Given the description of an element on the screen output the (x, y) to click on. 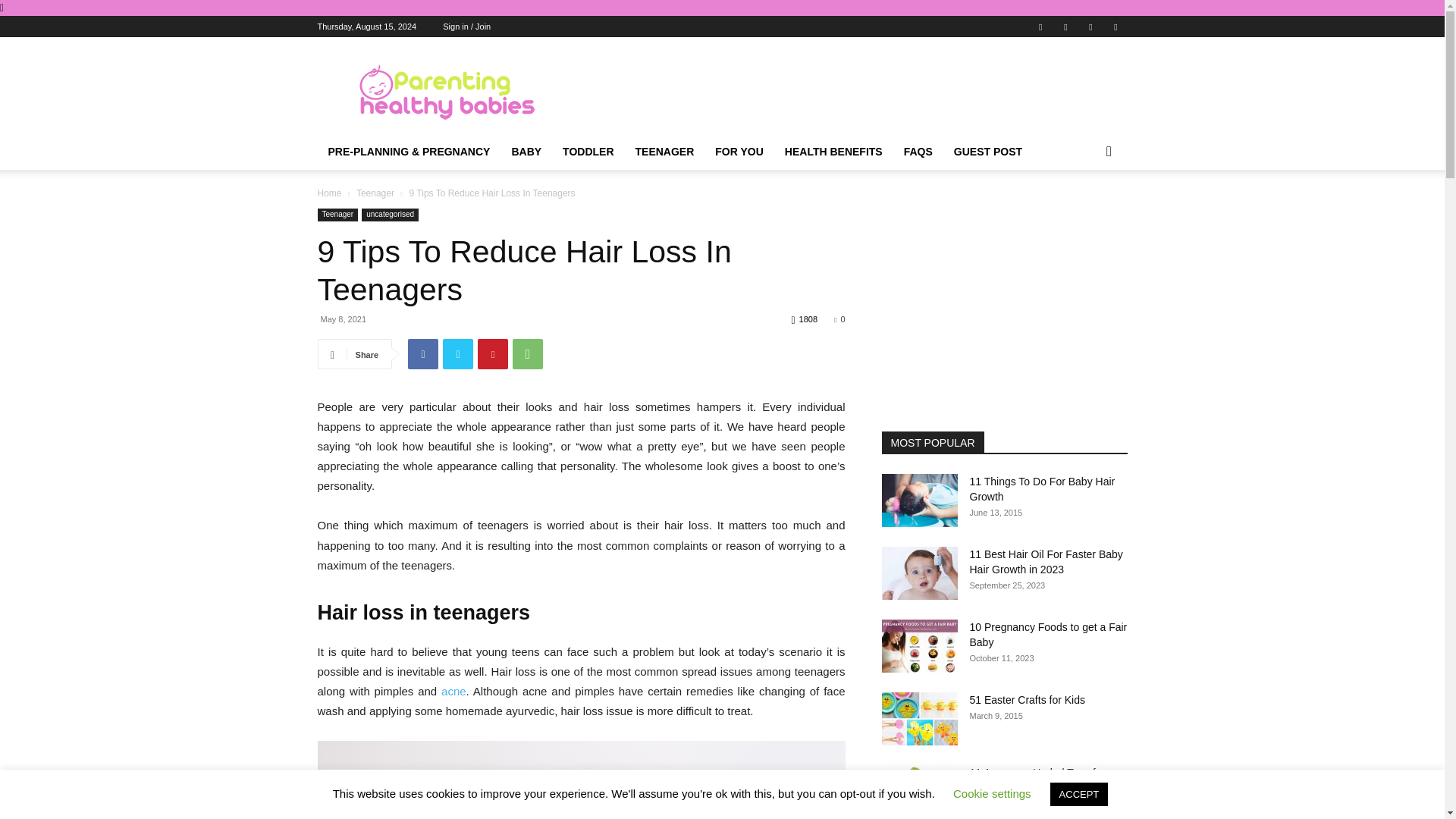
Facebook (422, 354)
FAQS (918, 151)
HEALTH BENEFITS (833, 151)
Advertisement (850, 92)
View all posts in Teenager (375, 193)
Pinterest (1065, 25)
Pinterest (492, 354)
WhatsApp (527, 354)
Teenager (375, 193)
Twitter (1090, 25)
